Given the description of an element on the screen output the (x, y) to click on. 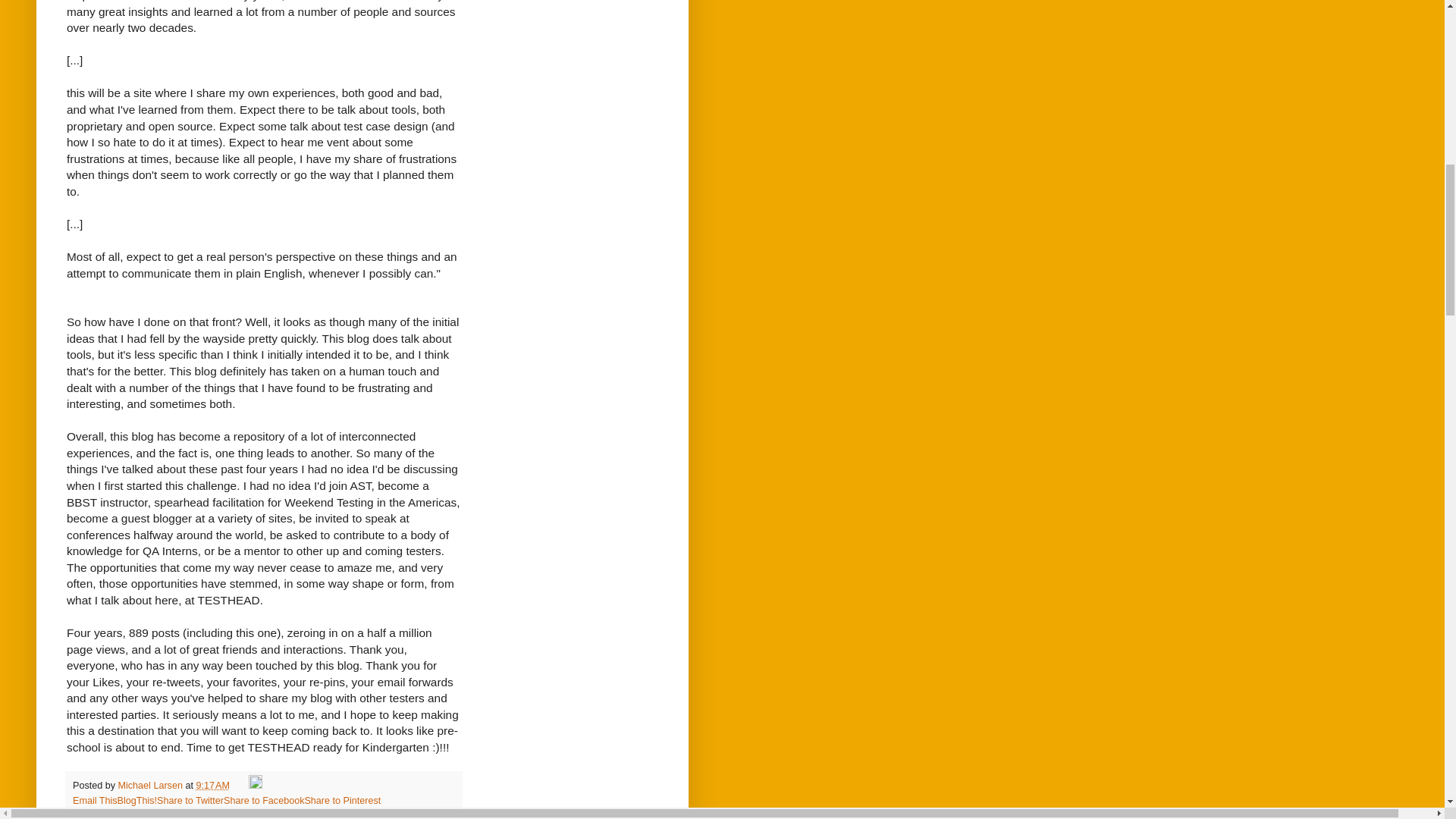
BlogThis! (137, 800)
author profile (151, 785)
Share to Pinterest (342, 800)
Michael Larsen (151, 785)
Email This (94, 800)
community (128, 814)
Email Post (239, 785)
Share to Pinterest (342, 800)
Share to Twitter (190, 800)
Edit Post (255, 785)
permanent link (211, 785)
software testing (272, 814)
people (219, 814)
Share to Facebook (264, 800)
